Given the description of an element on the screen output the (x, y) to click on. 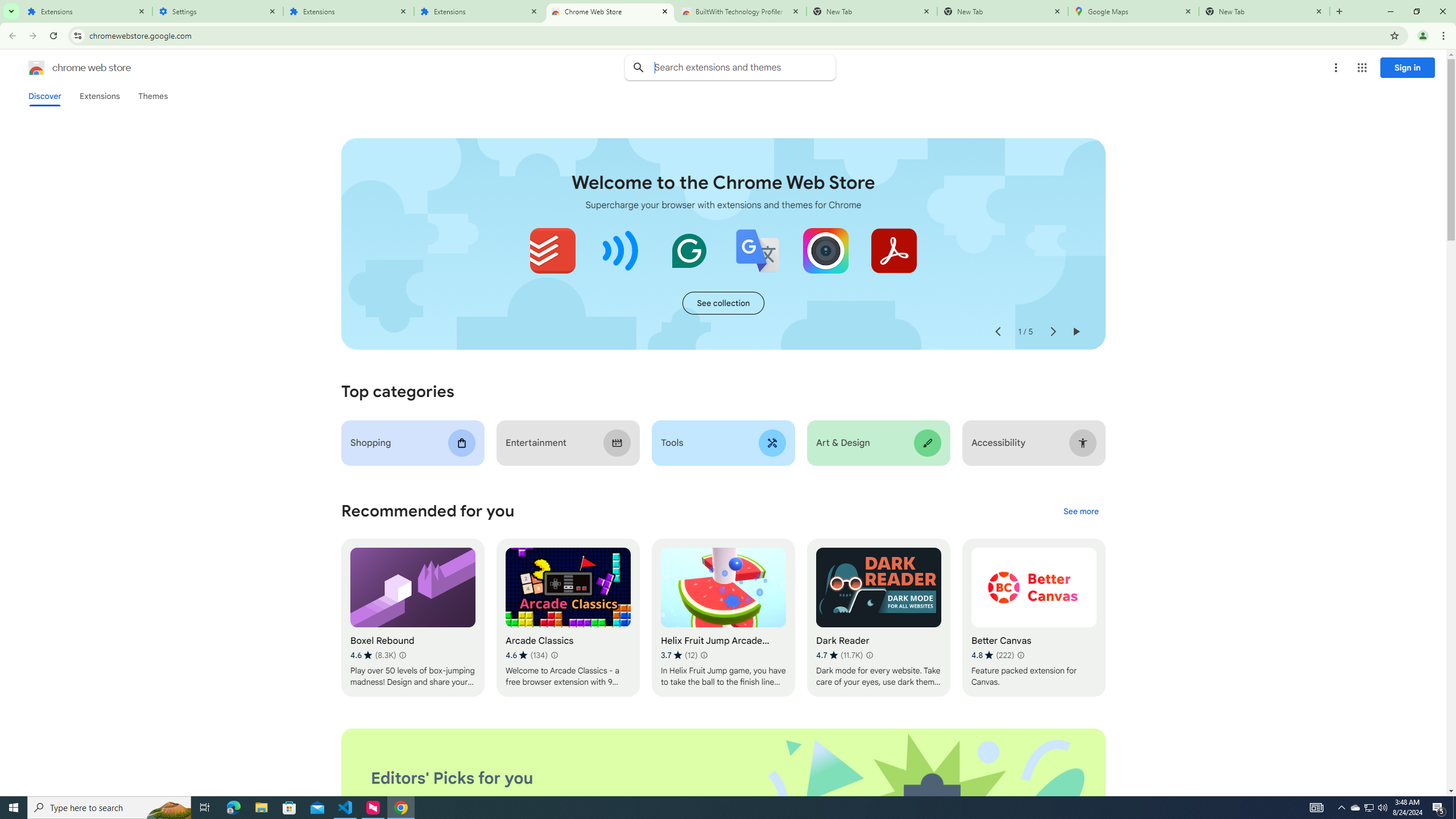
Next slide (1052, 331)
Learn more about results and reviews "Dark Reader" (869, 655)
Better Canvas (1033, 617)
Discover (43, 95)
Learn more about results and reviews "Boxel Rebound" (402, 655)
See more of the "Extensions starter kit" collection (722, 303)
Extensions (86, 11)
Awesome Screen Recorder & Screenshot (825, 250)
Art & Design (878, 443)
Entertainment (567, 443)
